Given the description of an element on the screen output the (x, y) to click on. 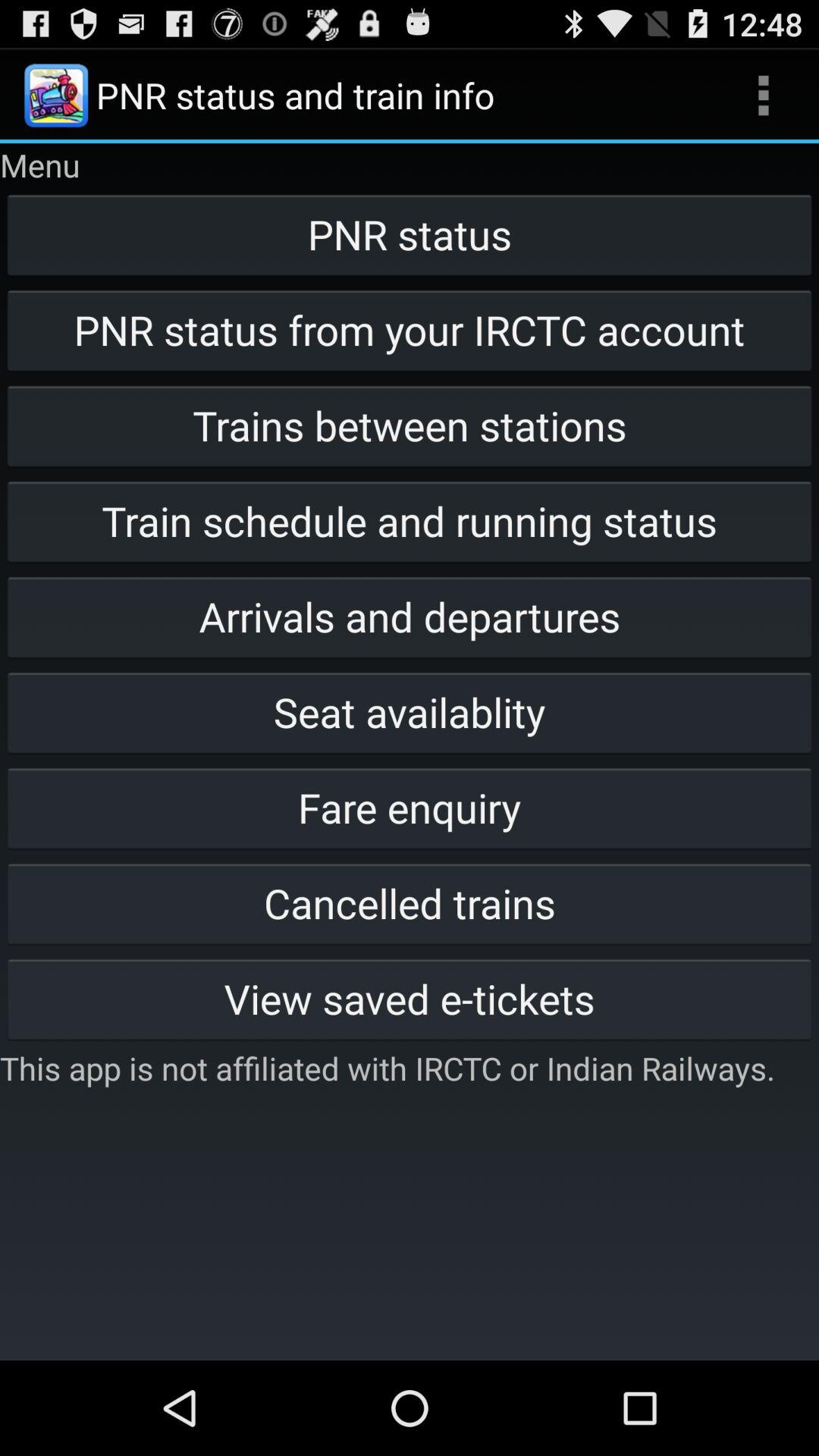
turn on trains between stations icon (409, 425)
